Given the description of an element on the screen output the (x, y) to click on. 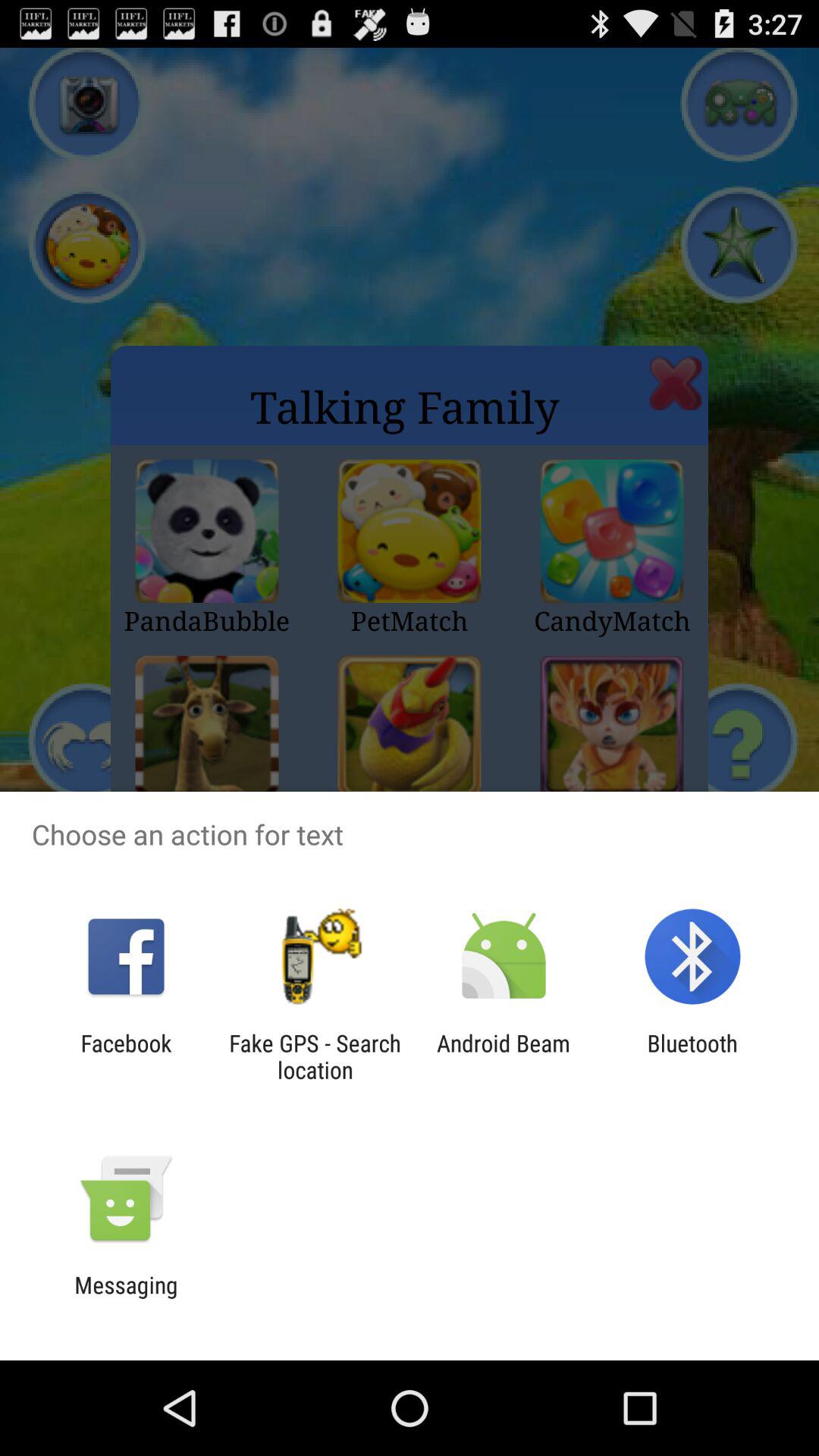
flip to the android beam item (503, 1056)
